Given the description of an element on the screen output the (x, y) to click on. 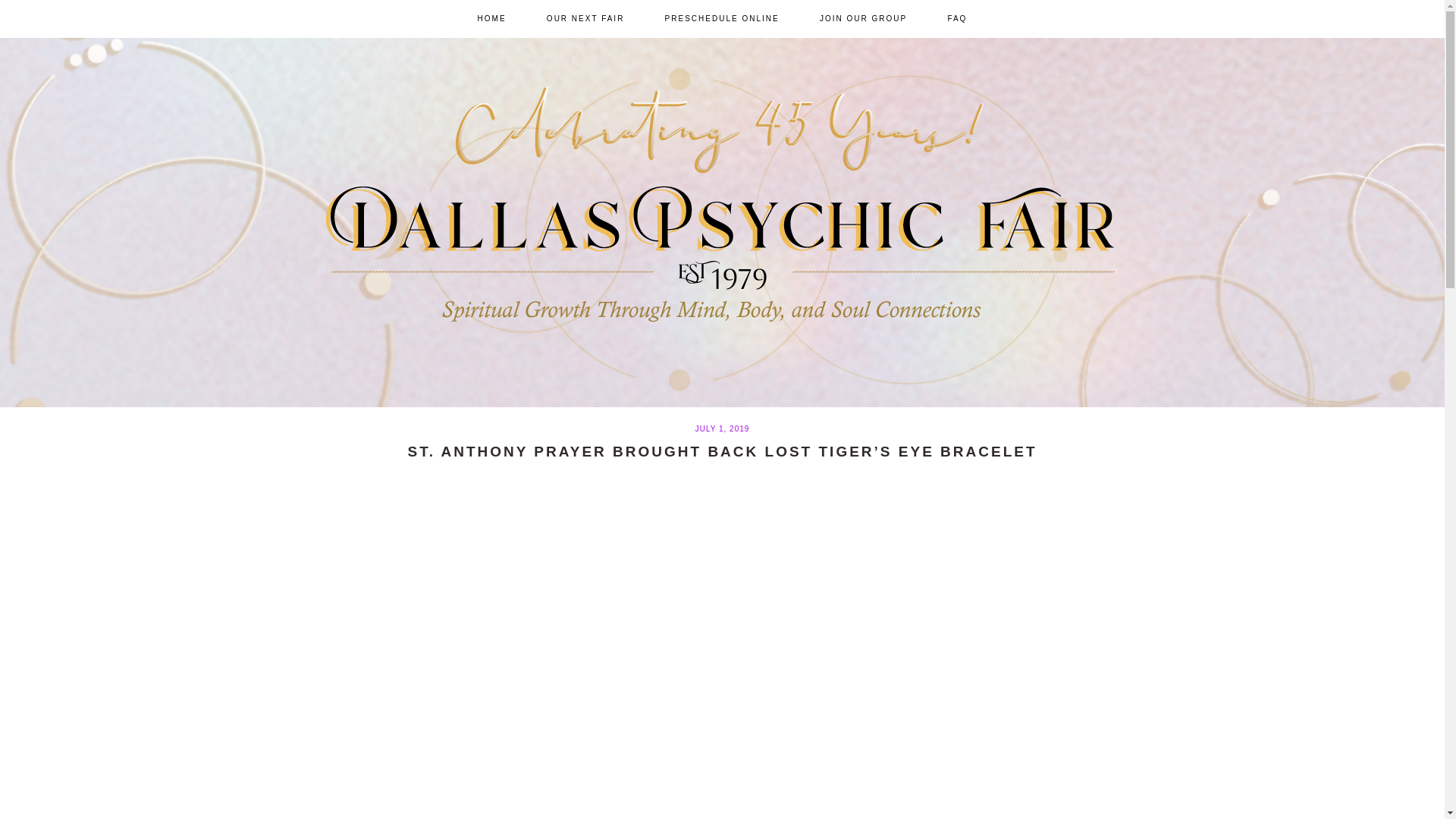
JOIN OUR GROUP (863, 18)
HOME (491, 18)
PRESCHEDULE ONLINE (721, 18)
FAQ (956, 18)
OUR NEXT FAIR (585, 18)
